Given the description of an element on the screen output the (x, y) to click on. 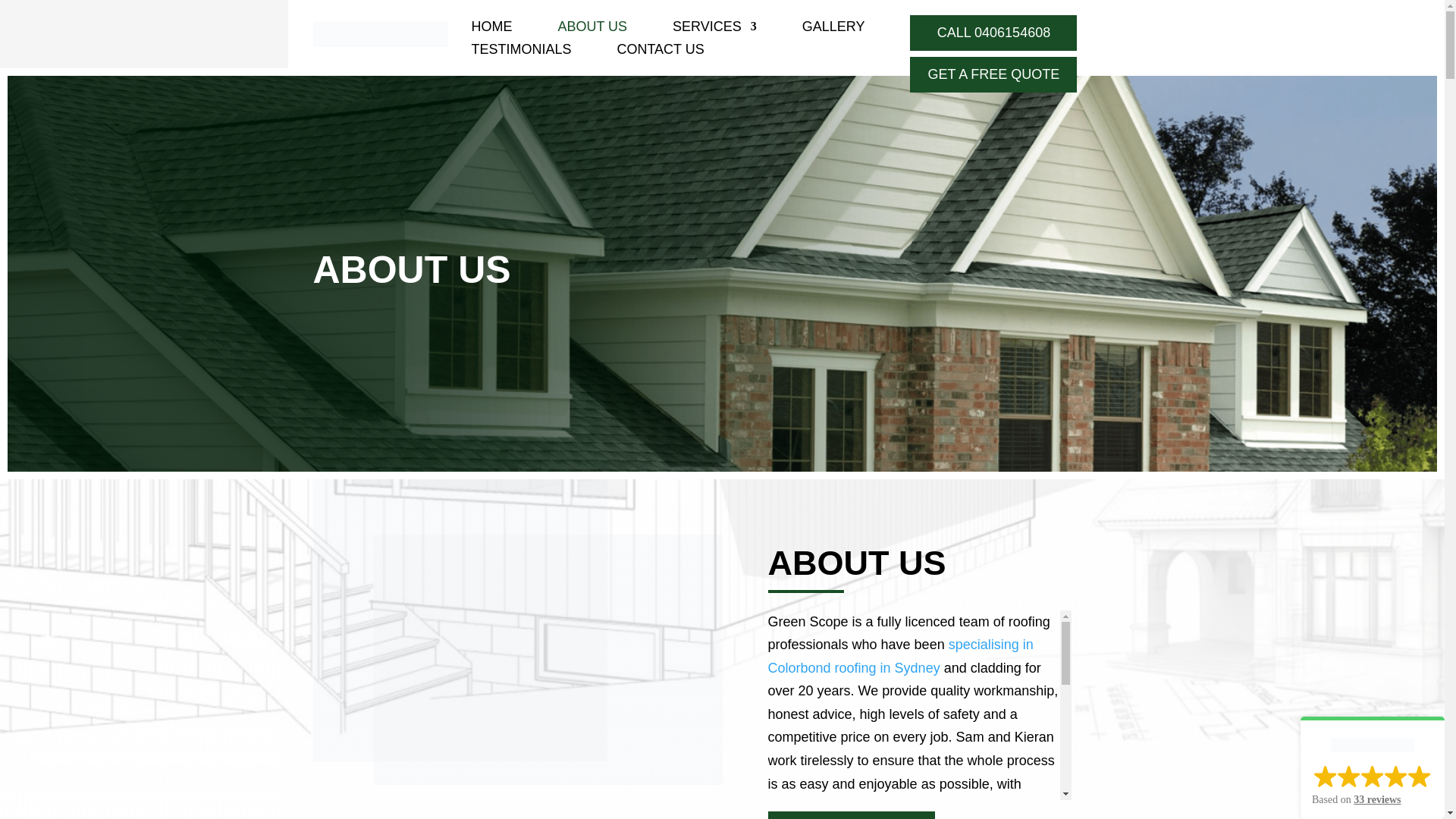
specialising in Colorbond roofing in Sydney (899, 656)
SERVICES (714, 29)
ABOUT US (592, 29)
CALL 0406154608 (993, 32)
GALLERY (833, 29)
CALL-0406154608 (850, 815)
CONTACT US (659, 52)
GET A FREE QUOTE (993, 74)
HOME (491, 29)
TESTIMONIALS (520, 52)
